Given the description of an element on the screen output the (x, y) to click on. 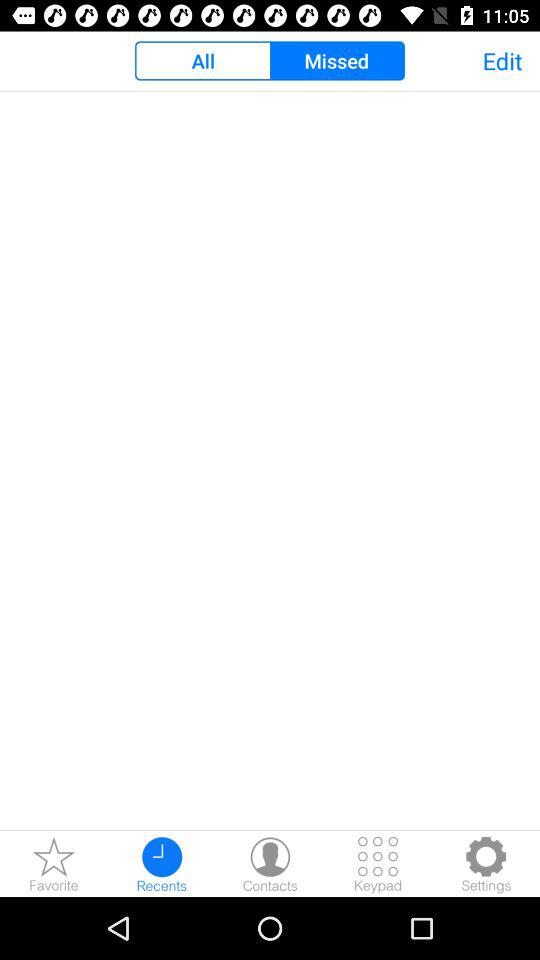
open contacts (269, 864)
